Given the description of an element on the screen output the (x, y) to click on. 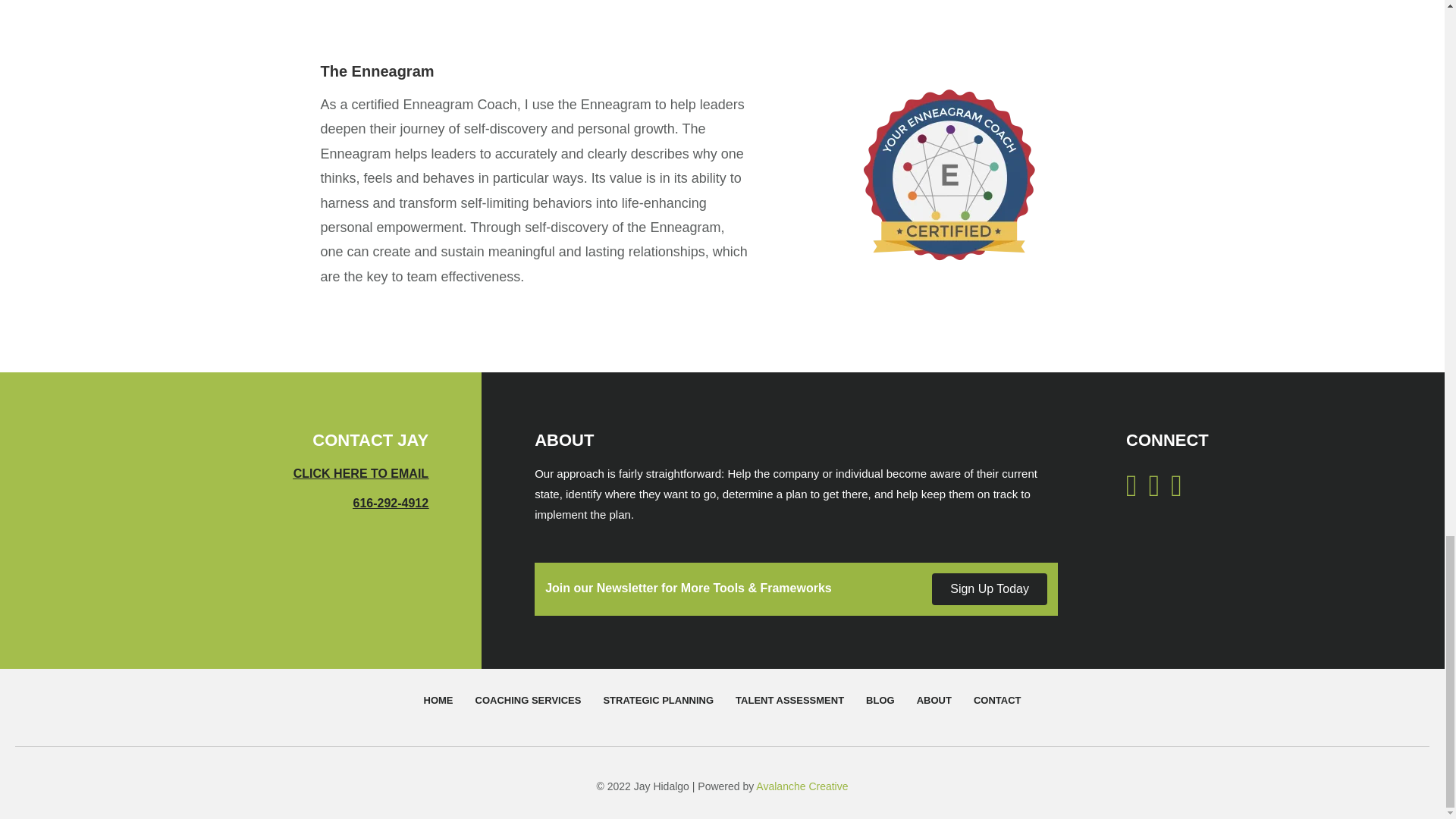
WordPress Page Builder Plugin (801, 786)
